Given the description of an element on the screen output the (x, y) to click on. 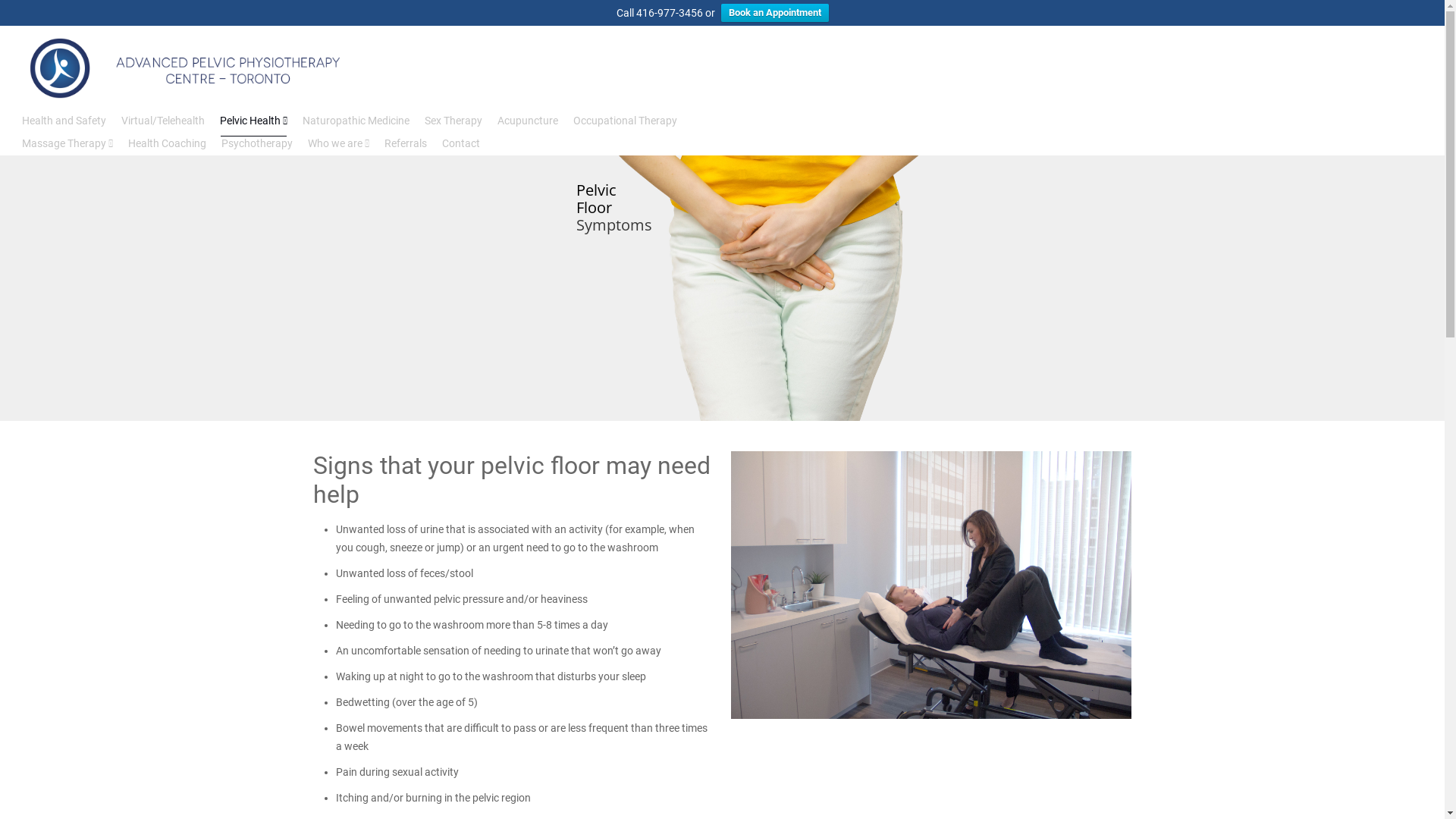
Psychotherapy Element type: text (256, 142)
Health Coaching Element type: text (166, 142)
Virtual/Telehealth Element type: text (162, 120)
Health and Safety Element type: text (63, 120)
Occupational Therapy Element type: text (624, 120)
Contact Element type: text (460, 142)
Sex Therapy Element type: text (453, 120)
Book an Appointment Element type: text (774, 12)
Pelvic-floor-pain-treatments-by-physiotherapists-in-toronto Element type: hover (931, 584)
Acupuncture Element type: text (527, 120)
Naturopathic Medicine Element type: text (355, 120)
Referrals Element type: text (405, 142)
